Given the description of an element on the screen output the (x, y) to click on. 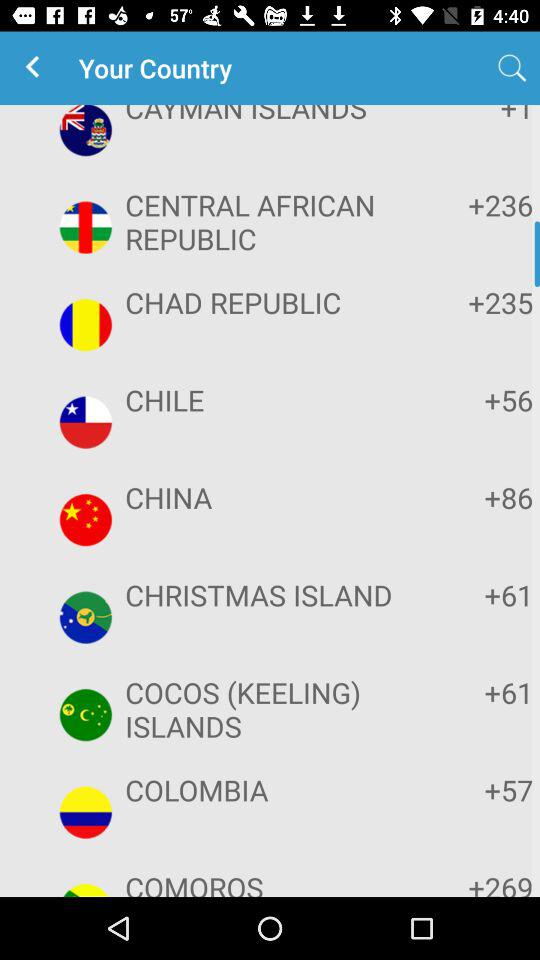
select the app next to the china icon (471, 497)
